Given the description of an element on the screen output the (x, y) to click on. 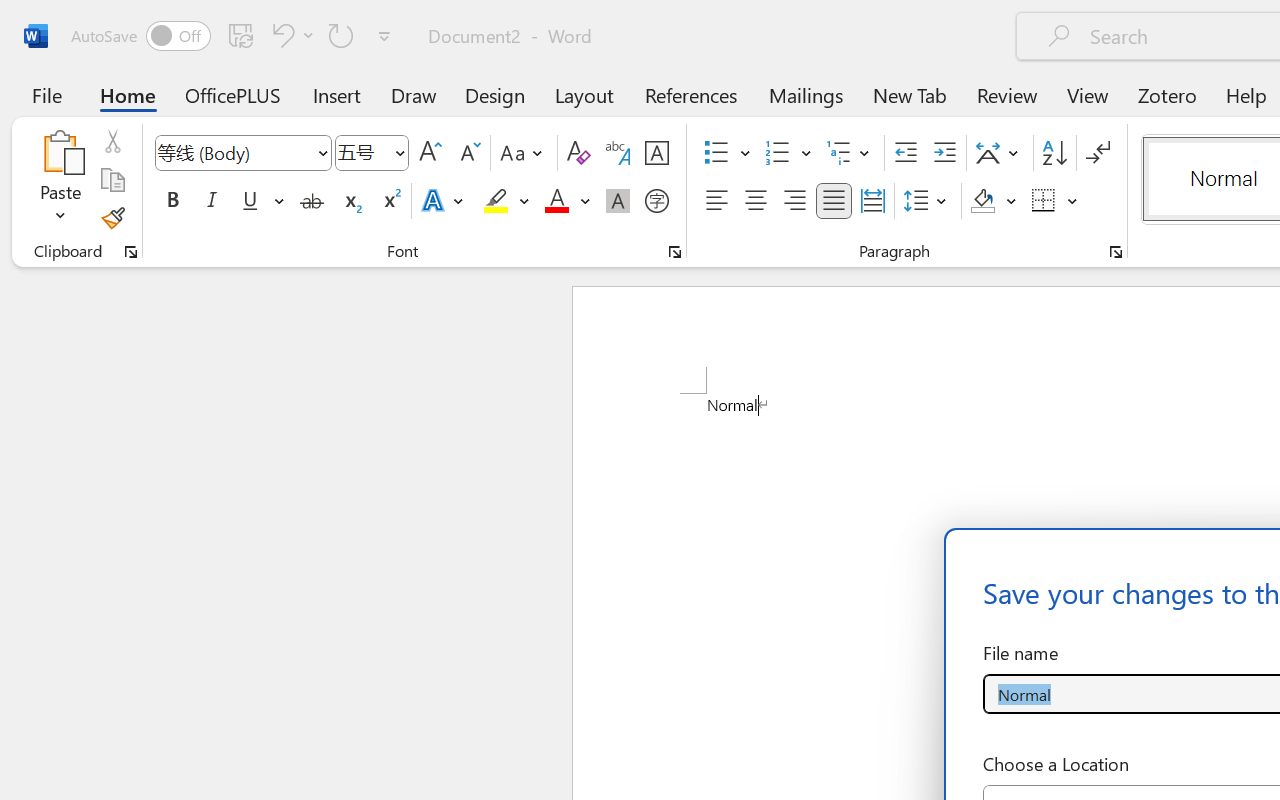
Increase Indent (944, 153)
Undo Apply Quick Style (280, 35)
File Tab (46, 94)
Character Shading (618, 201)
More Options (1073, 201)
Draw (413, 94)
Borders (1055, 201)
Change Case (524, 153)
Asian Layout (1000, 153)
Bold (172, 201)
Superscript (390, 201)
Shrink Font (468, 153)
Numbering (788, 153)
Justify (834, 201)
